Given the description of an element on the screen output the (x, y) to click on. 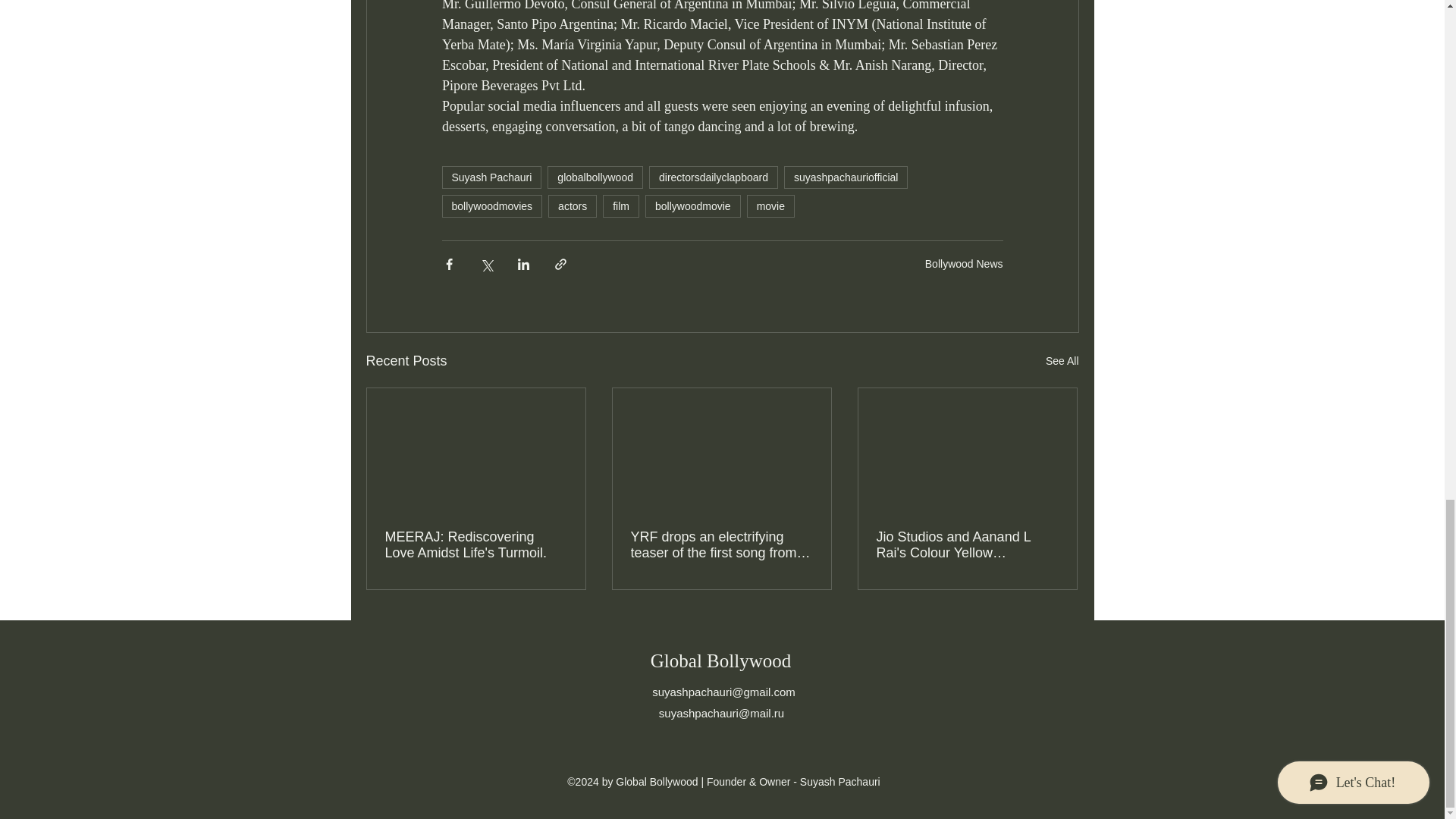
Bollywood News (963, 263)
globalbollywood (595, 177)
directorsdailyclapboard (713, 177)
bollywoodmovies (491, 205)
actors (572, 205)
movie (770, 205)
bollywoodmovie (693, 205)
Suyash Pachauri (491, 177)
suyashpachauriofficial (846, 177)
film (620, 205)
